Given the description of an element on the screen output the (x, y) to click on. 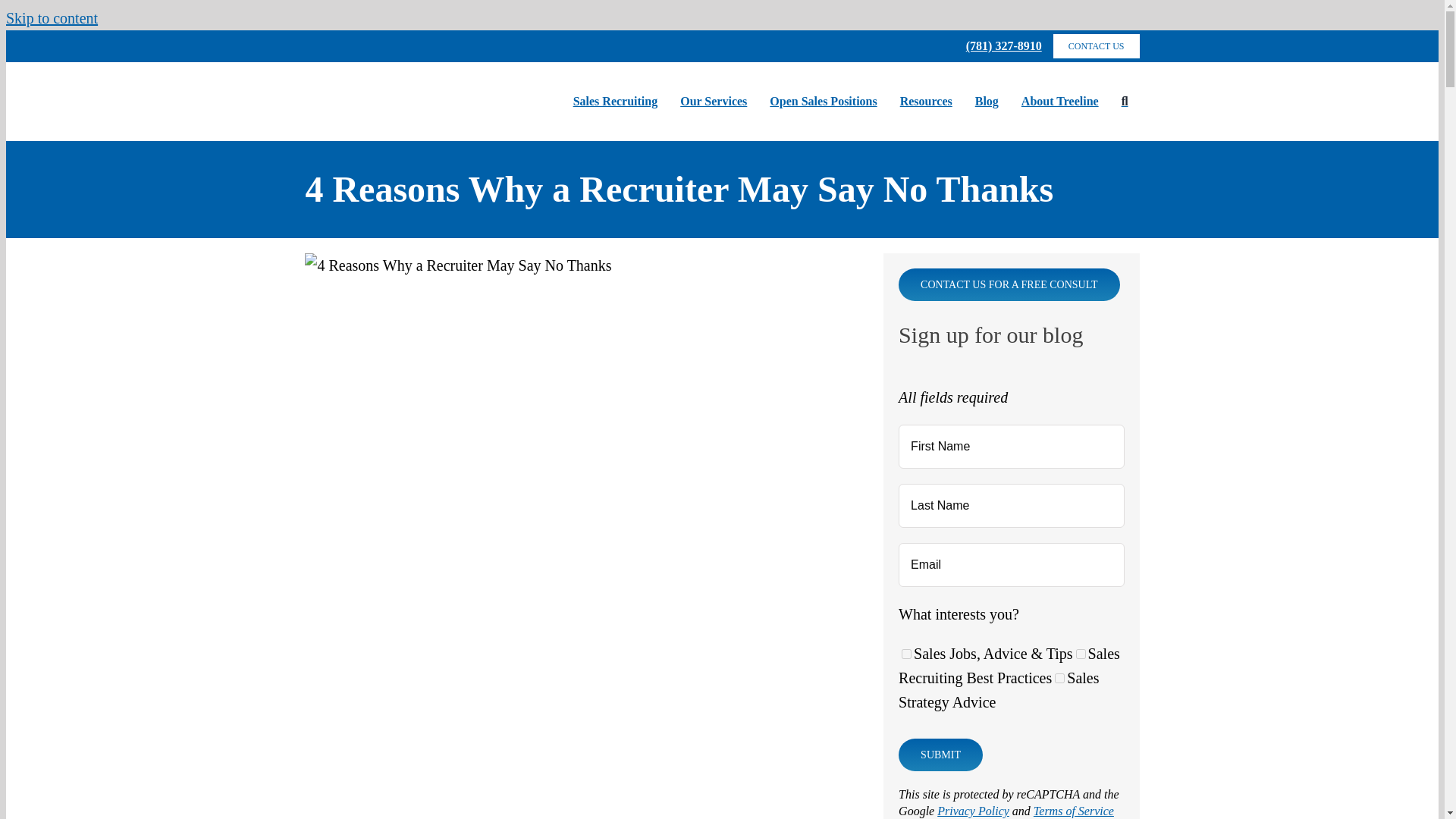
Sales Recruiting Best Practices (1080, 654)
Our Services (713, 101)
Sales Job Seekers (823, 101)
CONTACT US (1096, 46)
Submit (940, 754)
Meet Our Leadership Team (1059, 101)
Skip to content (51, 17)
Blog (986, 101)
About Treeline (1059, 101)
Best Nationwide sales recruiting services (615, 101)
